Given the description of an element on the screen output the (x, y) to click on. 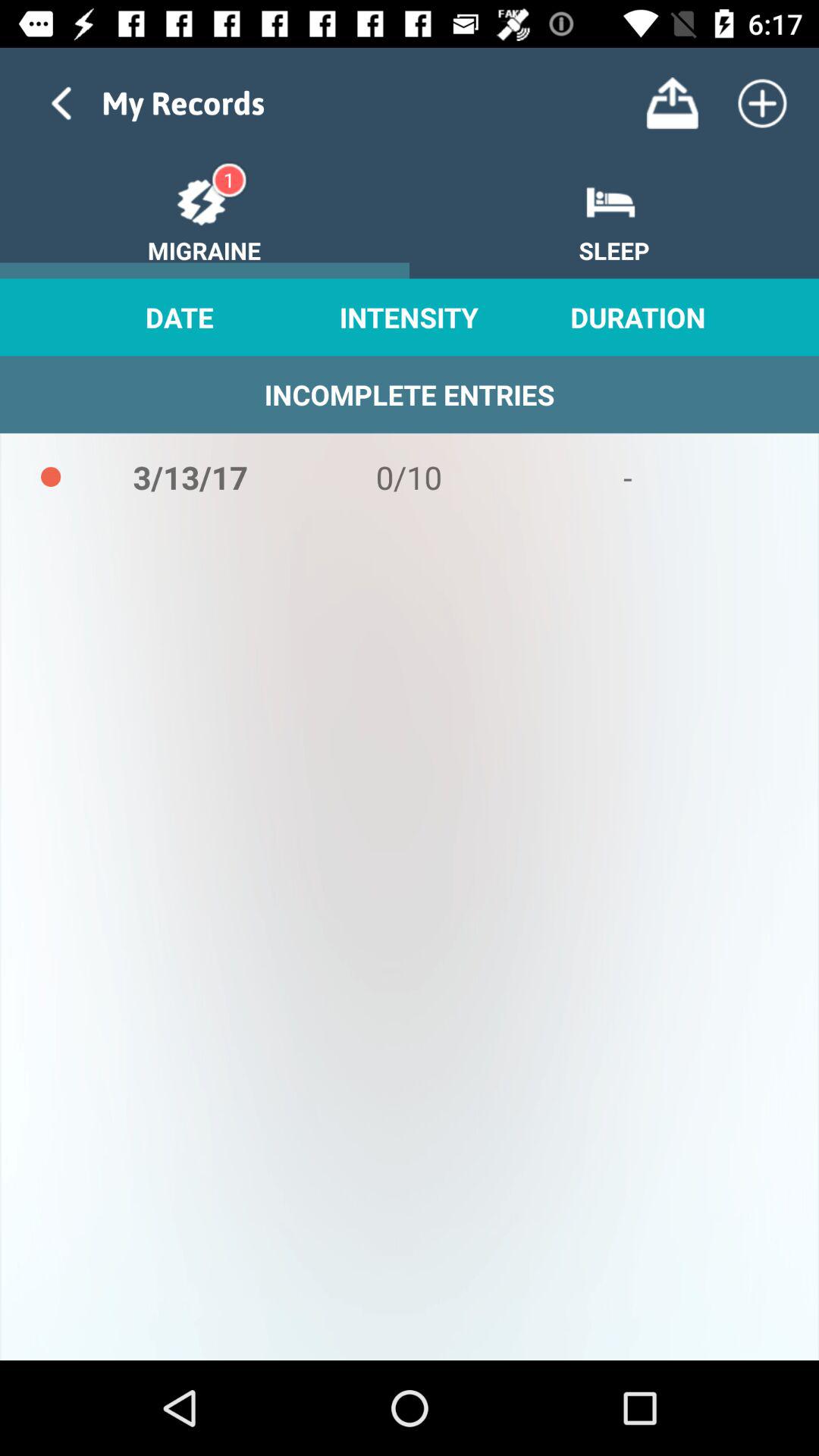
turn off the icon to the right of my records (672, 103)
